Given the description of an element on the screen output the (x, y) to click on. 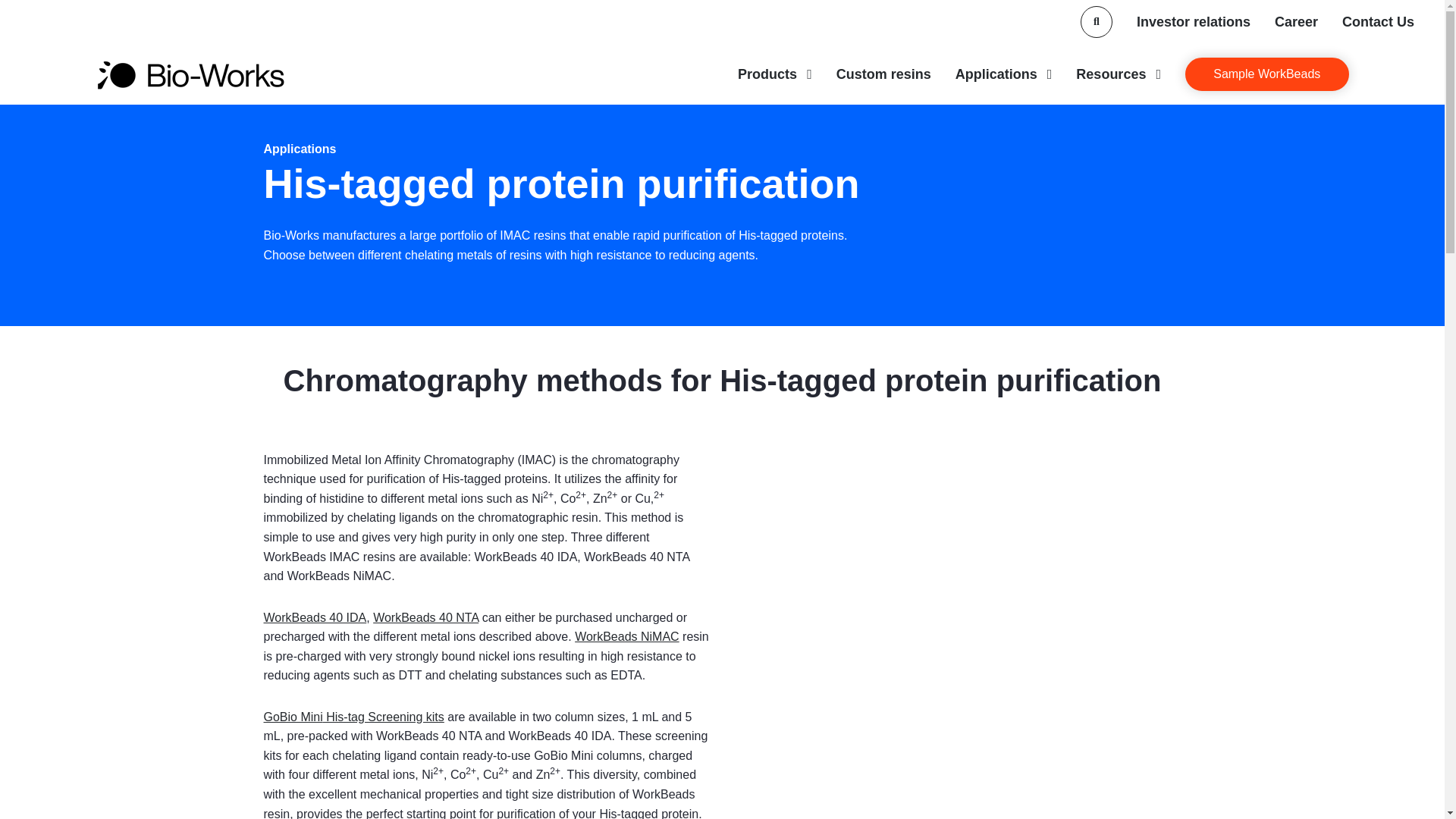
Sample WorkBeads (1266, 73)
Resources (1117, 74)
Custom resins (883, 74)
Career (1296, 22)
Contact Us (1377, 22)
Investor relations (1193, 22)
Applications (1003, 74)
Products (775, 74)
